Given the description of an element on the screen output the (x, y) to click on. 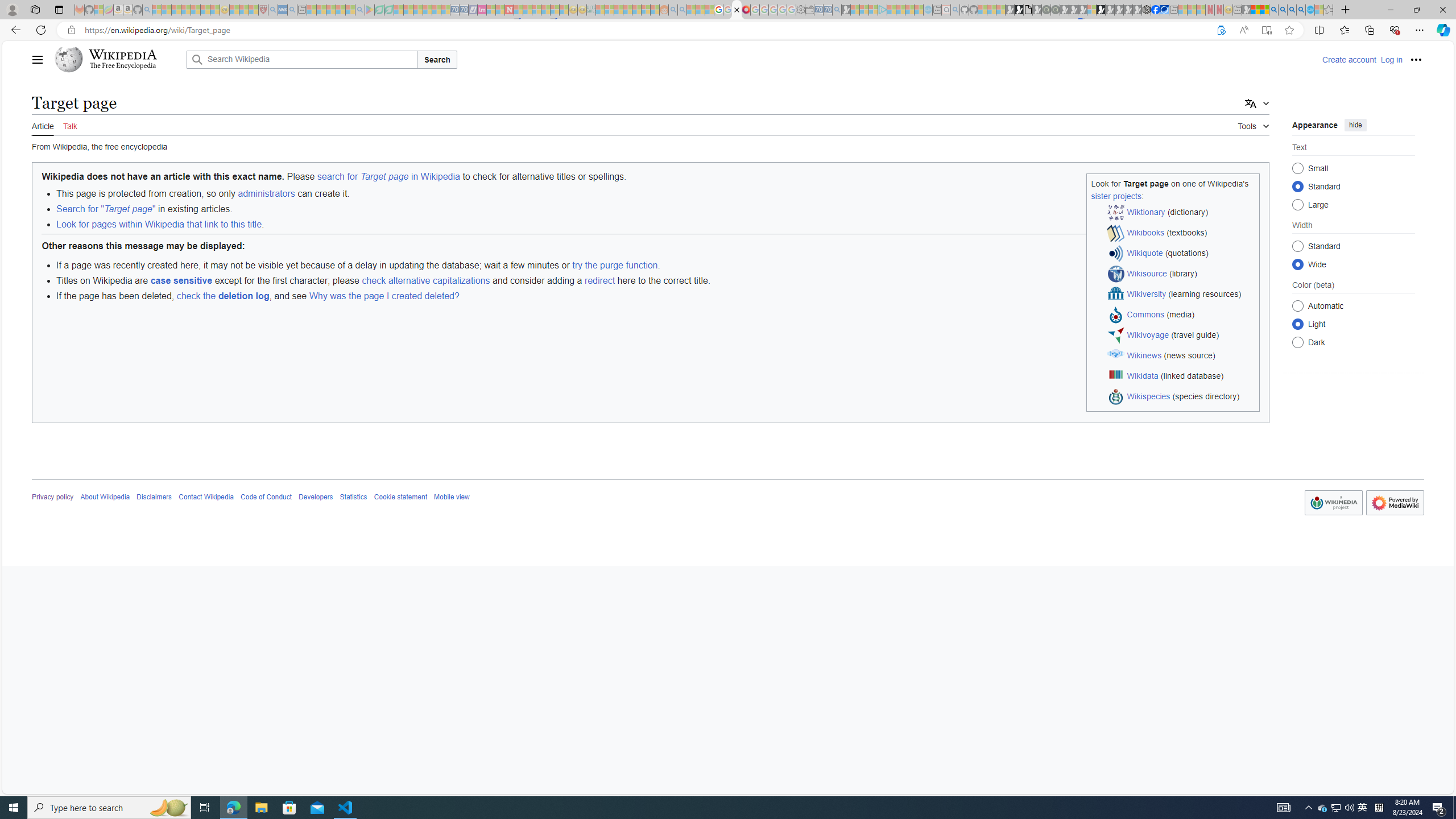
Automatic (1297, 305)
Class: mw-list-item mw-list-item-js (1353, 323)
MSN - Sleeping (1246, 9)
Create account (1348, 58)
utah sues federal government - Search - Sleeping (291, 9)
About Wikipedia (104, 497)
